Given the description of an element on the screen output the (x, y) to click on. 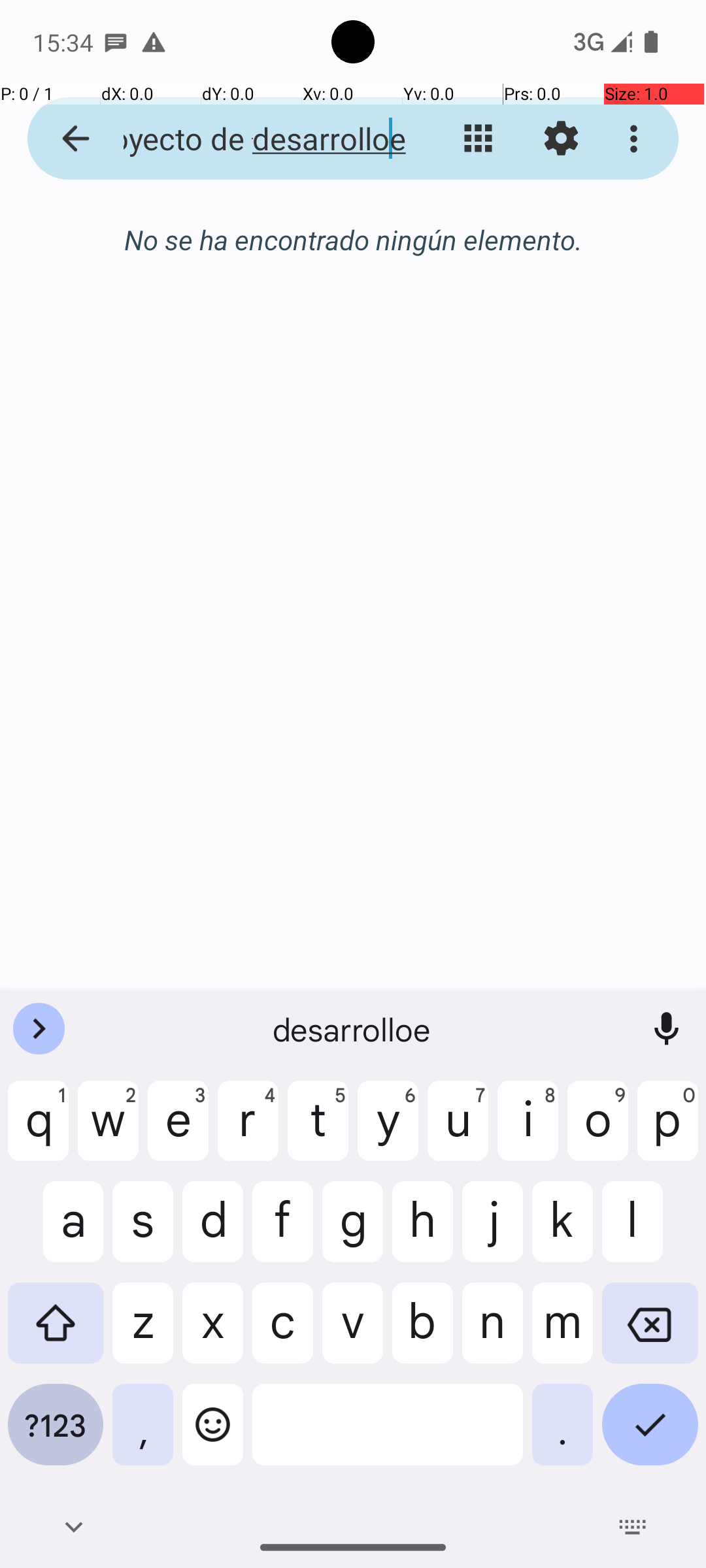
Reunion dReunion sobre el proyecto de desarrolloe trabajo Element type: android.widget.EditText (252, 138)
No se ha encontrado ningún elemento. Element type: android.widget.TextView (353, 239)
desarrolloe Element type: android.widget.FrameLayout (352, 1028)
